Given the description of an element on the screen output the (x, y) to click on. 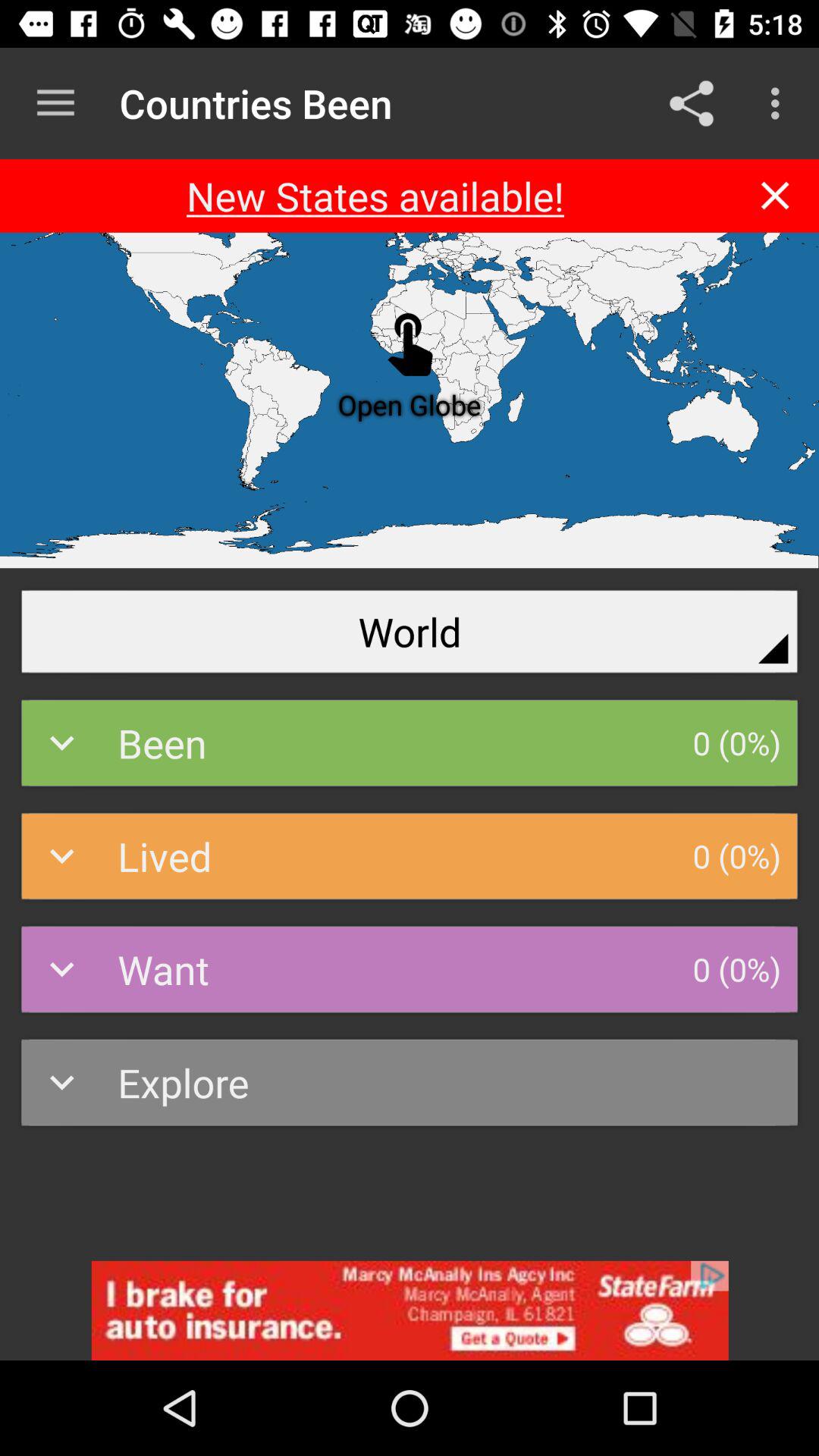
closeing the file (775, 195)
